Given the description of an element on the screen output the (x, y) to click on. 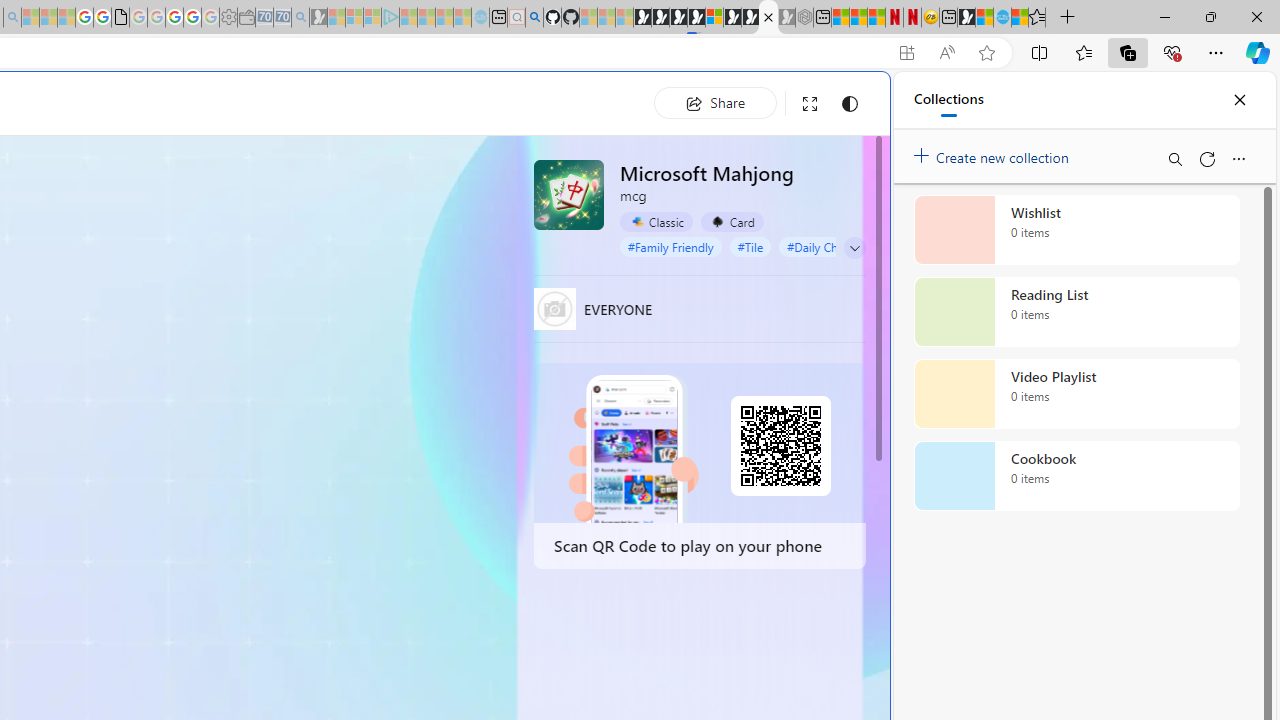
EVERYONE (554, 308)
#Tile (750, 246)
#Family Friendly (670, 246)
